Given the description of an element on the screen output the (x, y) to click on. 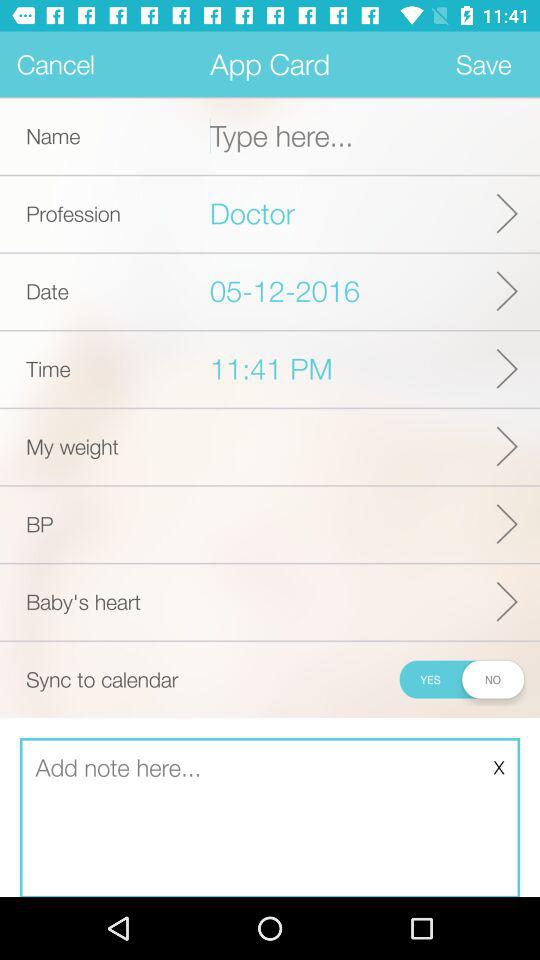
launch cancel icon (55, 63)
